Given the description of an element on the screen output the (x, y) to click on. 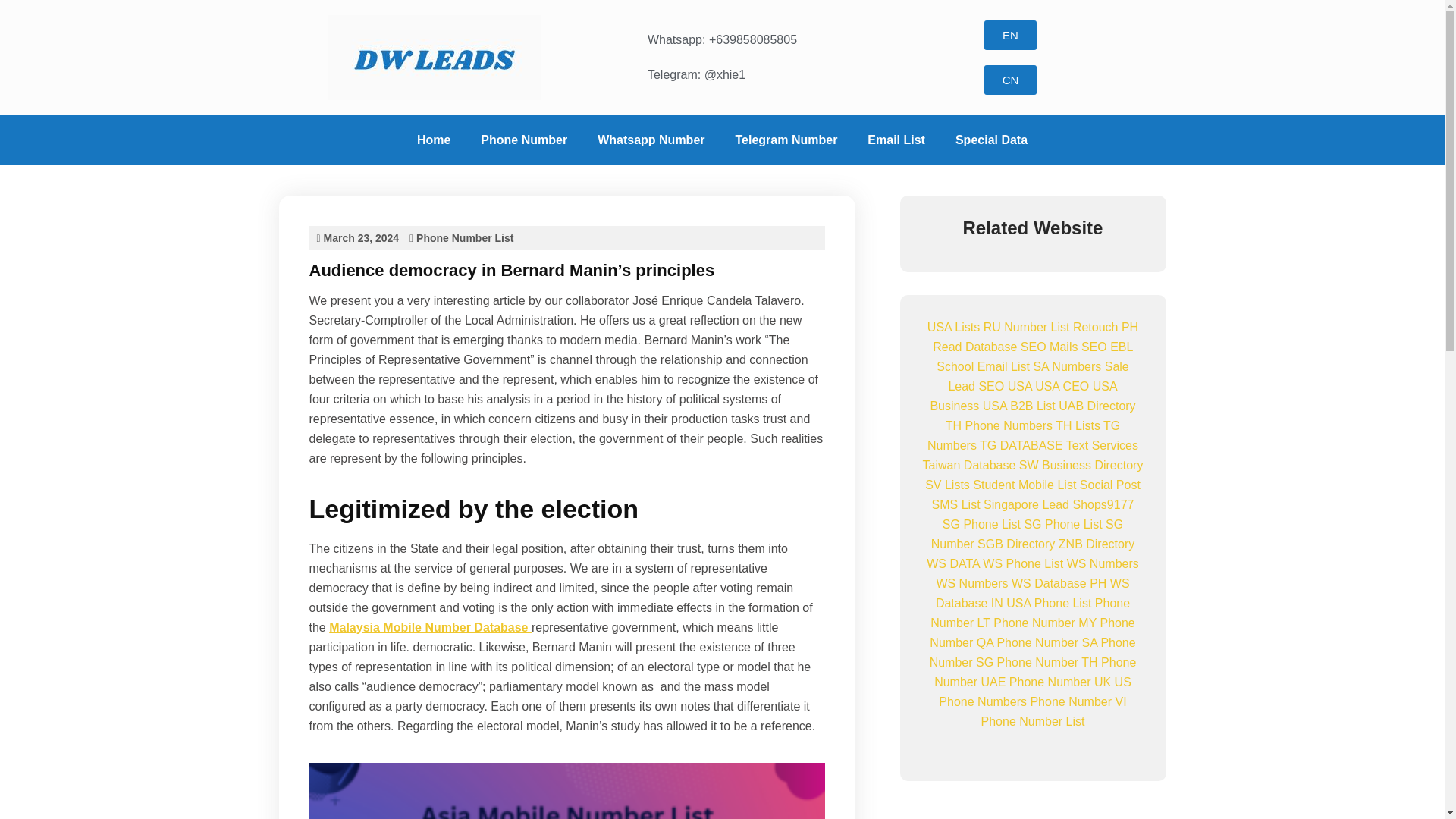
CN (1010, 80)
SEO USA (1004, 386)
RU Number List (1027, 327)
SEO EBL (1106, 346)
USA Lists (953, 327)
Special Data (991, 140)
Email List (895, 140)
Whatsapp Number (650, 140)
School Email List (982, 366)
Read Database (974, 346)
Retouch PH (1105, 327)
EN (1010, 34)
Malaysia Mobile Number Database (430, 626)
SEO Mails (1049, 346)
Home (433, 140)
